Given the description of an element on the screen output the (x, y) to click on. 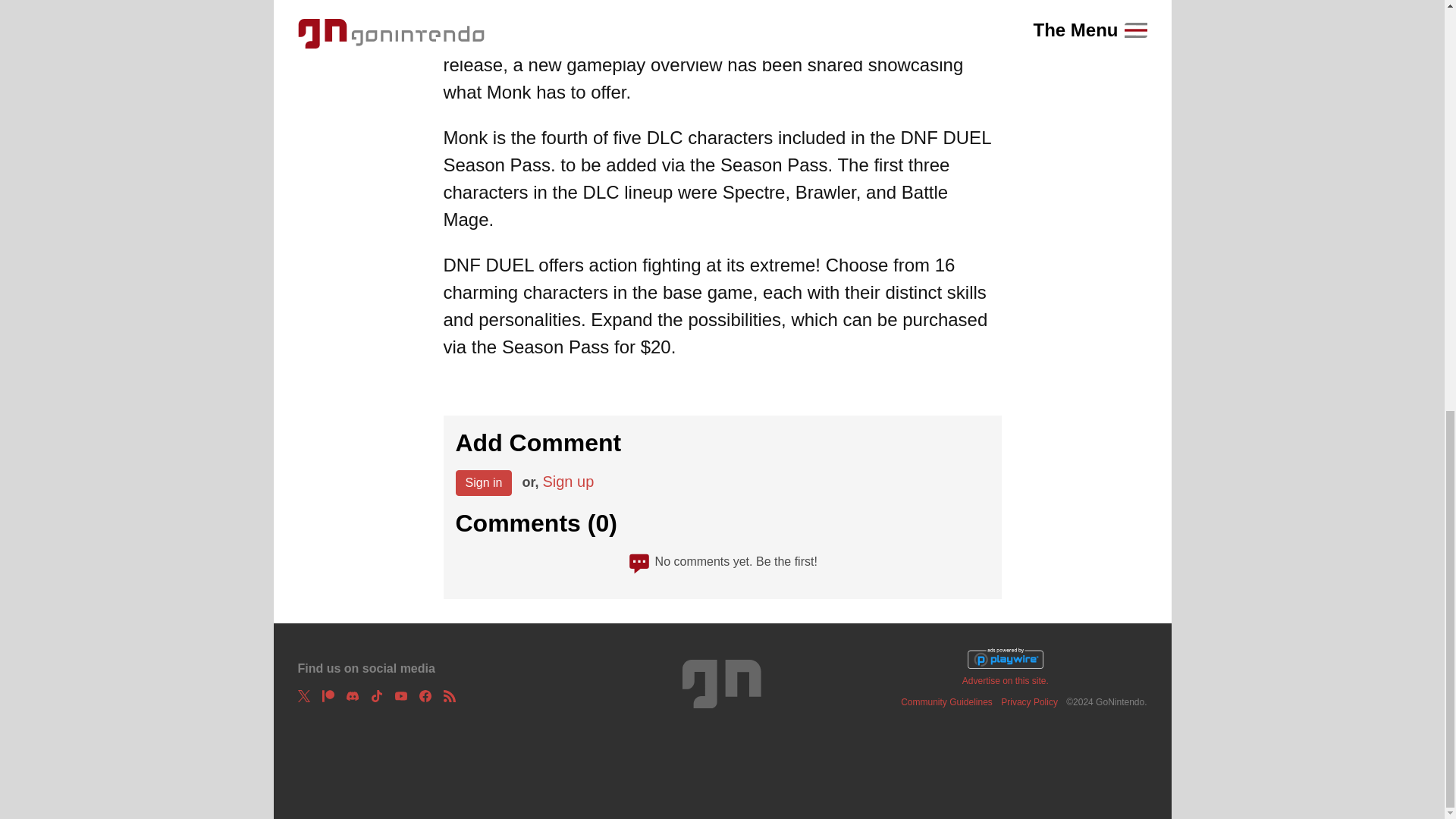
Discord Invite (352, 695)
Follow us on X (302, 695)
Support GN on Patreon (327, 695)
